Given the description of an element on the screen output the (x, y) to click on. 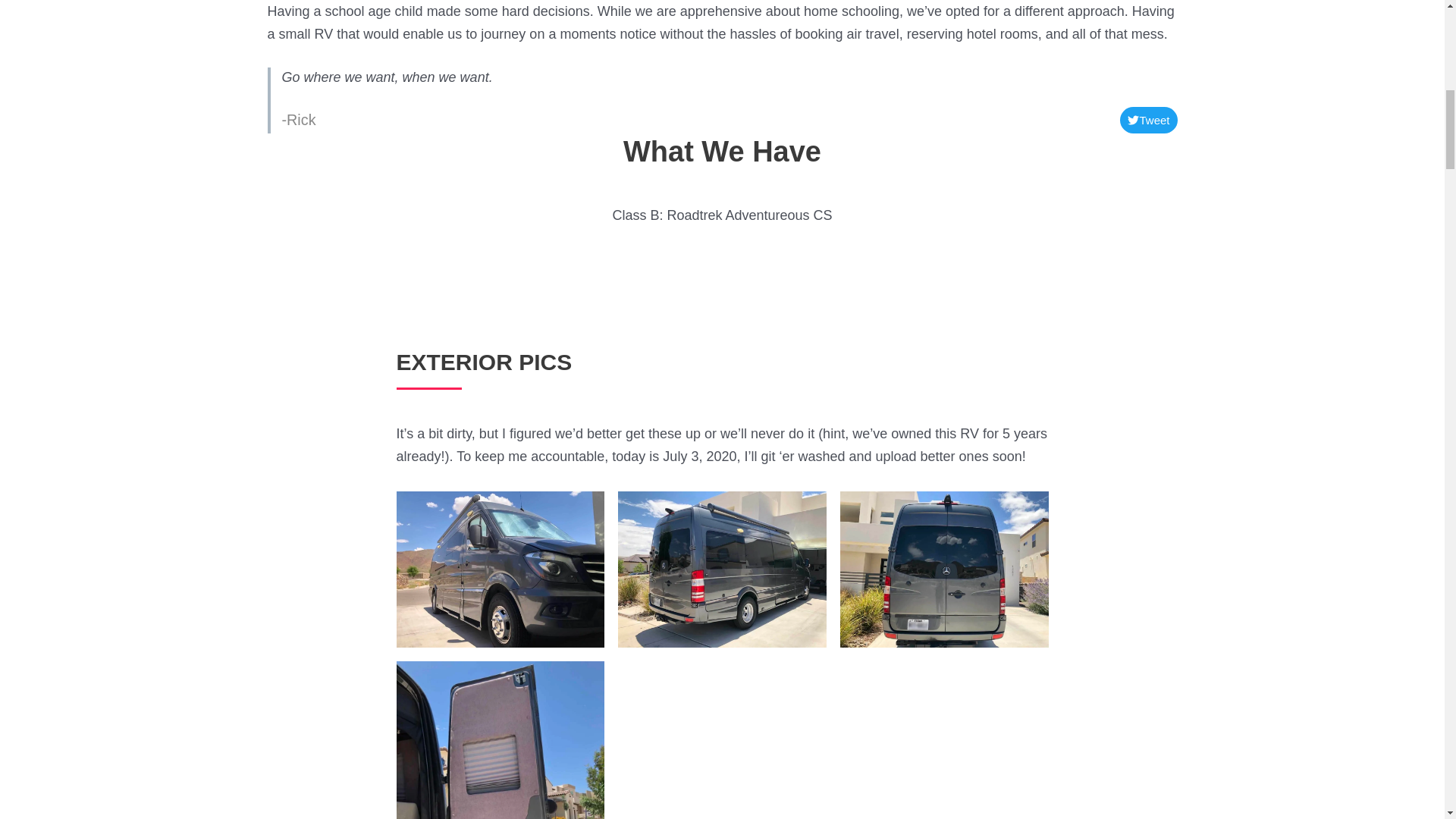
Tweet (1147, 120)
